Given the description of an element on the screen output the (x, y) to click on. 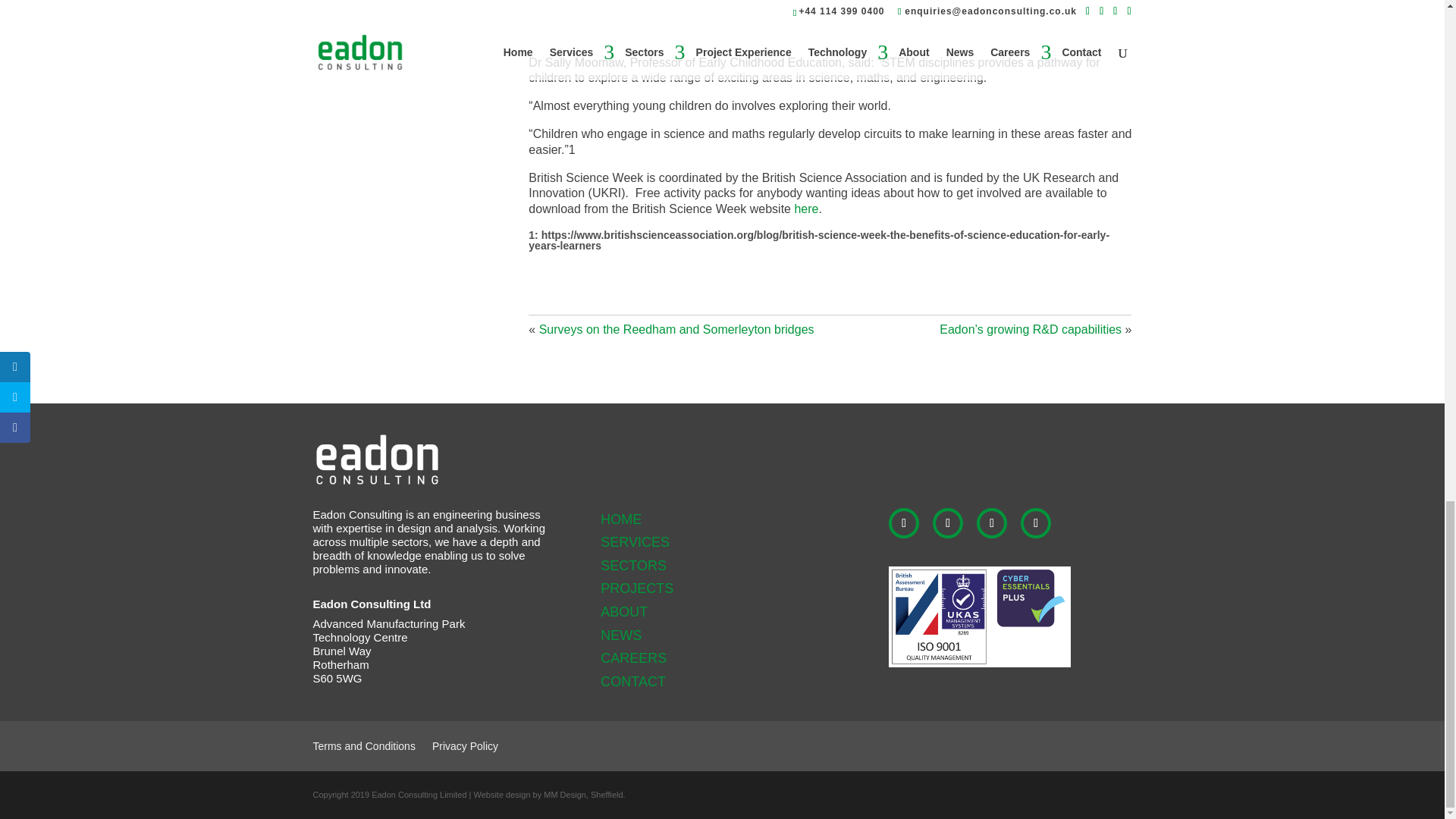
Follow on Facebook (947, 522)
Follow on Instagram (1035, 522)
Follow on LinkedIn (903, 522)
Follow on Twitter (991, 522)
